Given the description of an element on the screen output the (x, y) to click on. 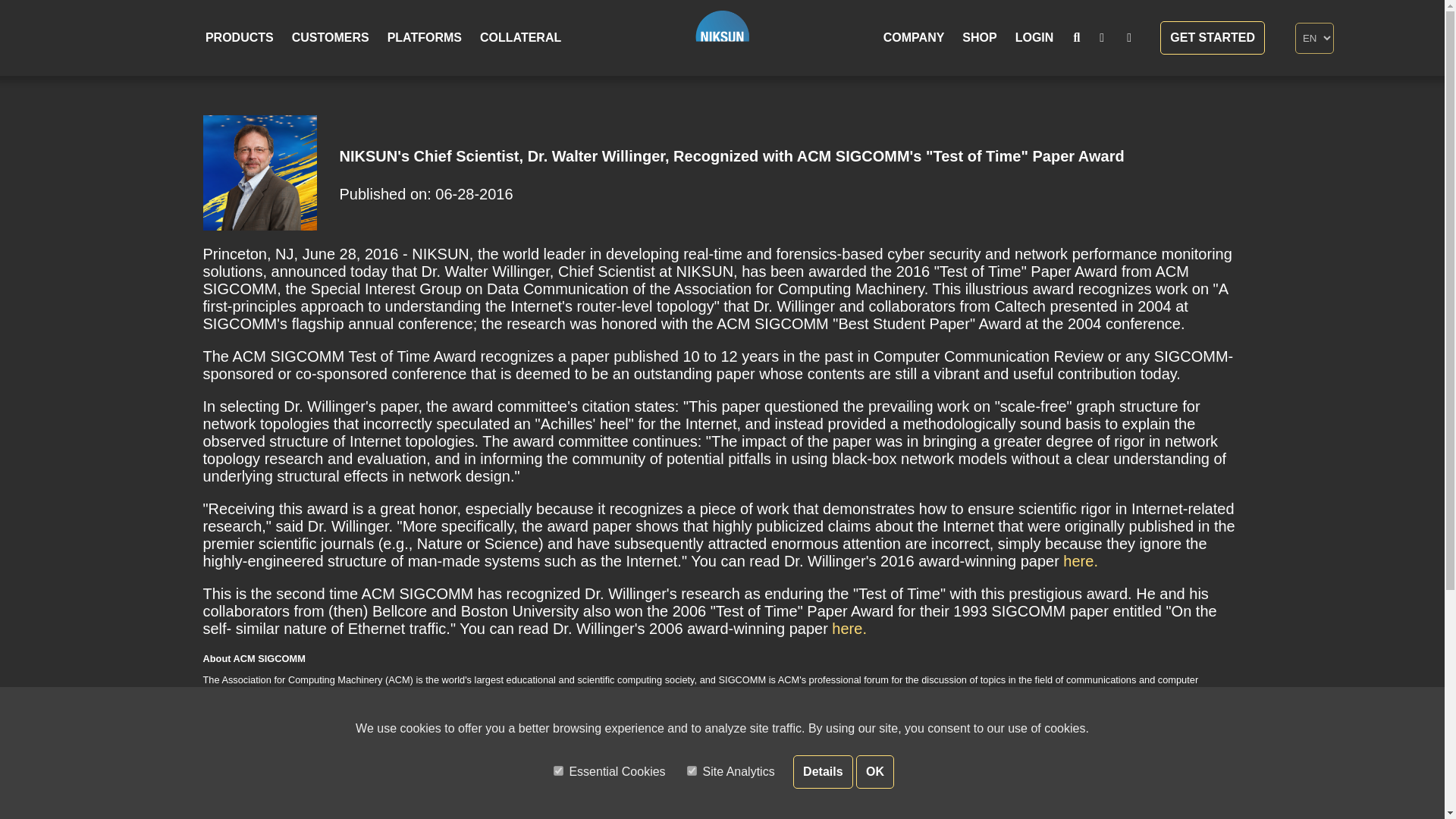
CUSTOMERS (330, 37)
LOGIN (1034, 37)
Search (1076, 38)
Toggle Theme (1101, 37)
PLATFORMS (424, 37)
Support (1129, 37)
COLLATERAL (520, 37)
PRODUCTS (239, 37)
COMPANY (914, 37)
on (692, 770)
